Given the description of an element on the screen output the (x, y) to click on. 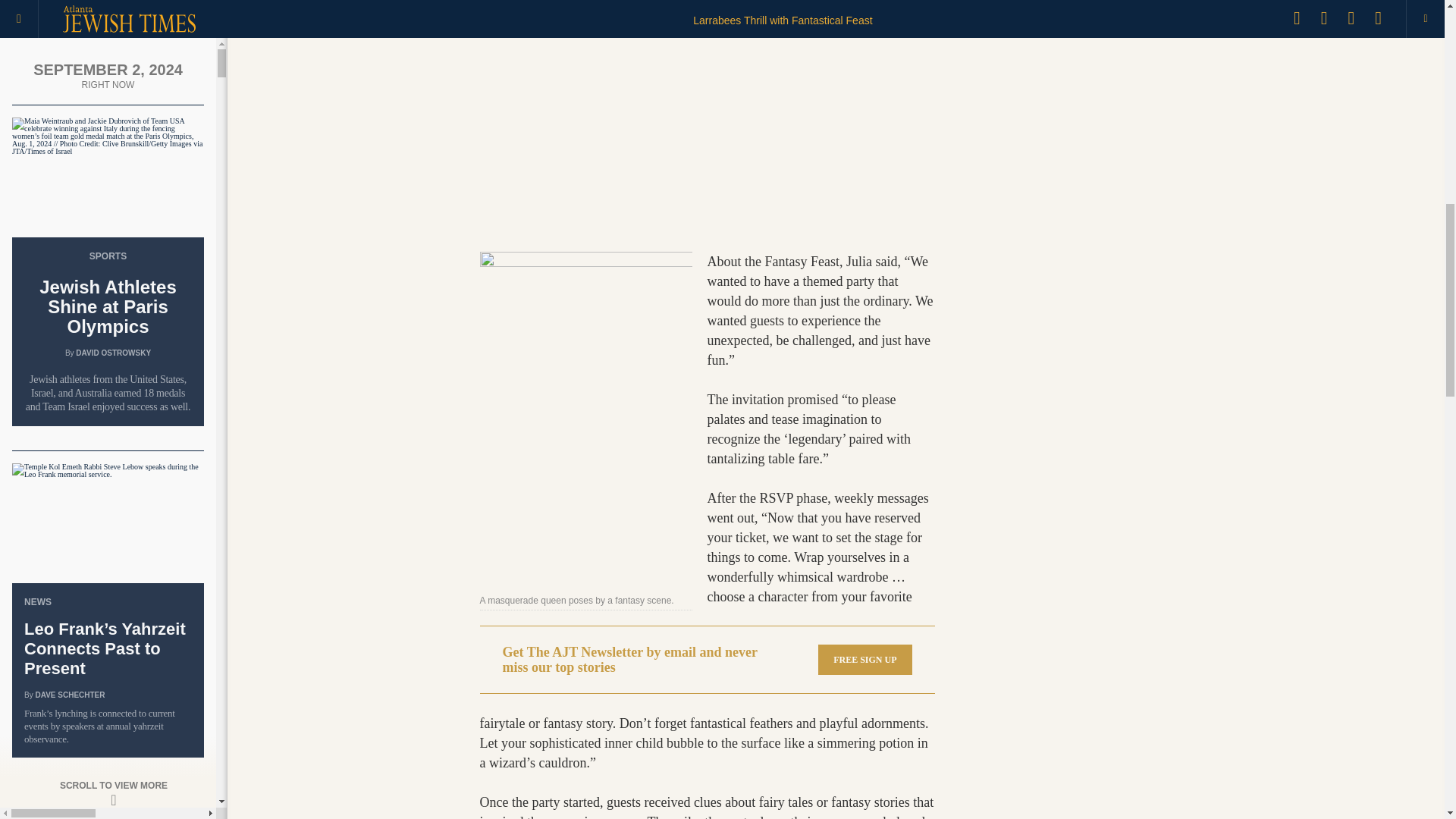
Sharon Gelbach (70, 565)
Marcia Caller Jaffe (78, 207)
